Given the description of an element on the screen output the (x, y) to click on. 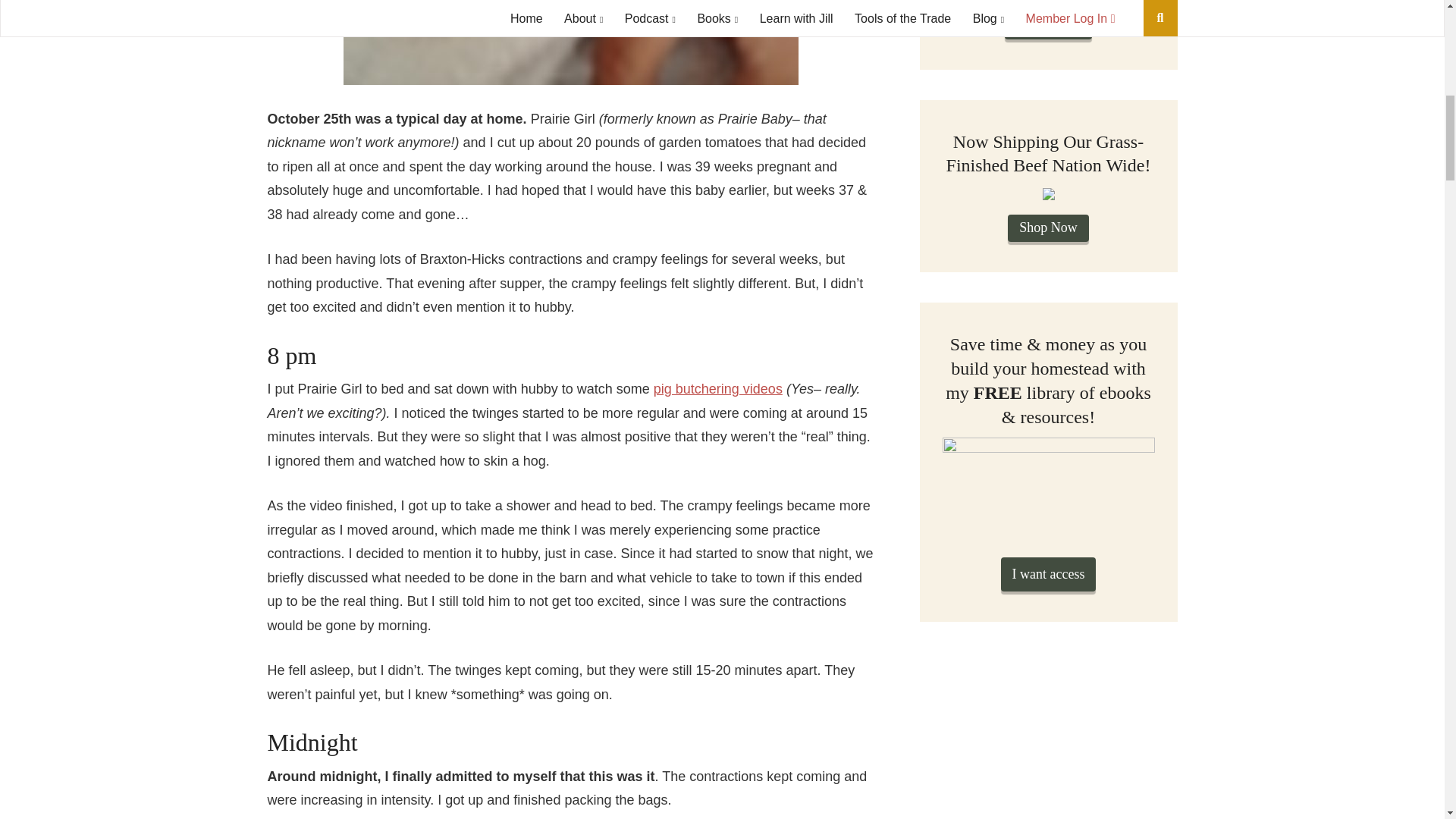
pig butchering videos (718, 388)
Review: Ask the Meatman Butchering DVDs (718, 388)
bridger (569, 42)
